Given the description of an element on the screen output the (x, y) to click on. 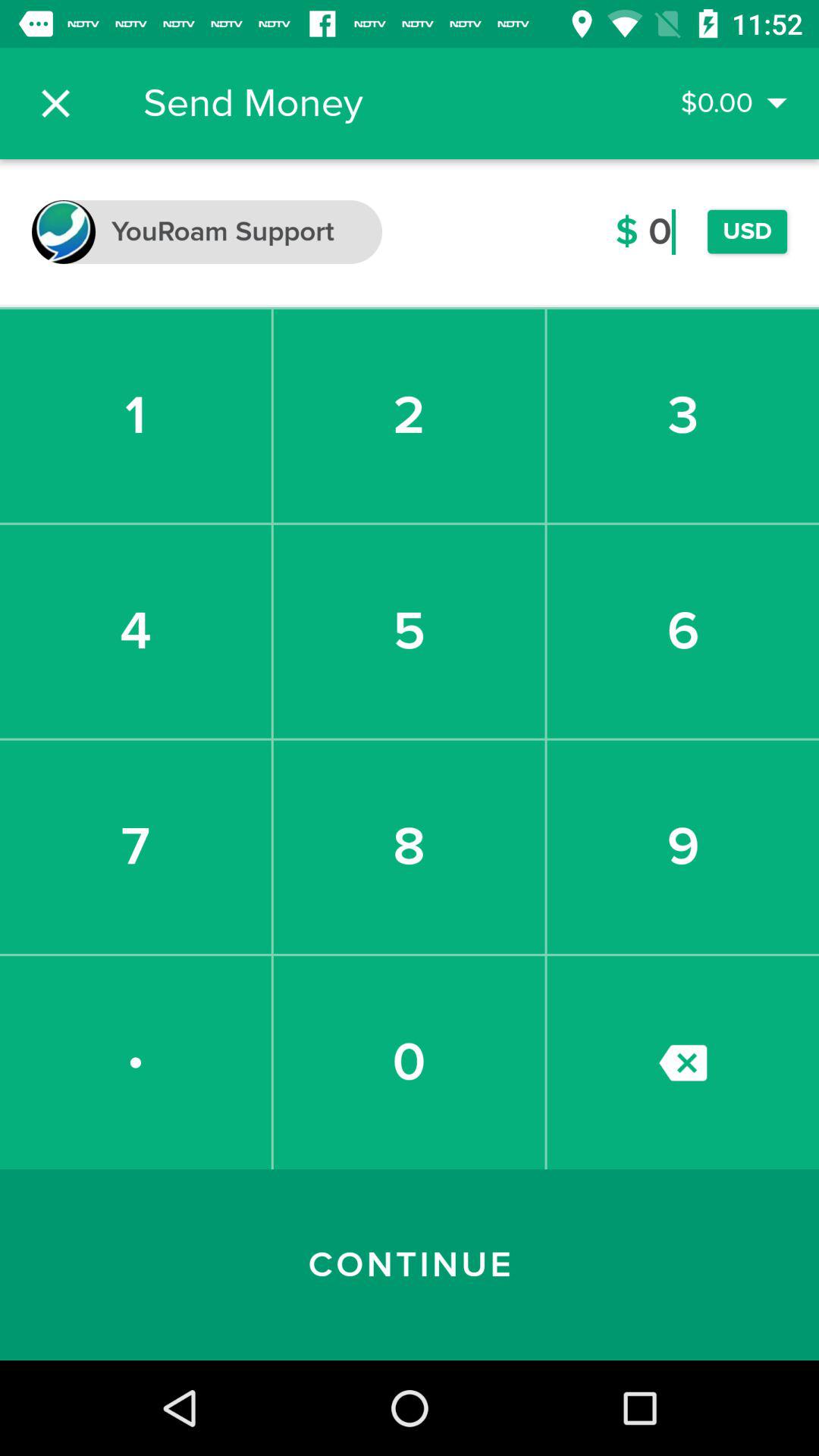
flip until the 2 item (408, 415)
